Given the description of an element on the screen output the (x, y) to click on. 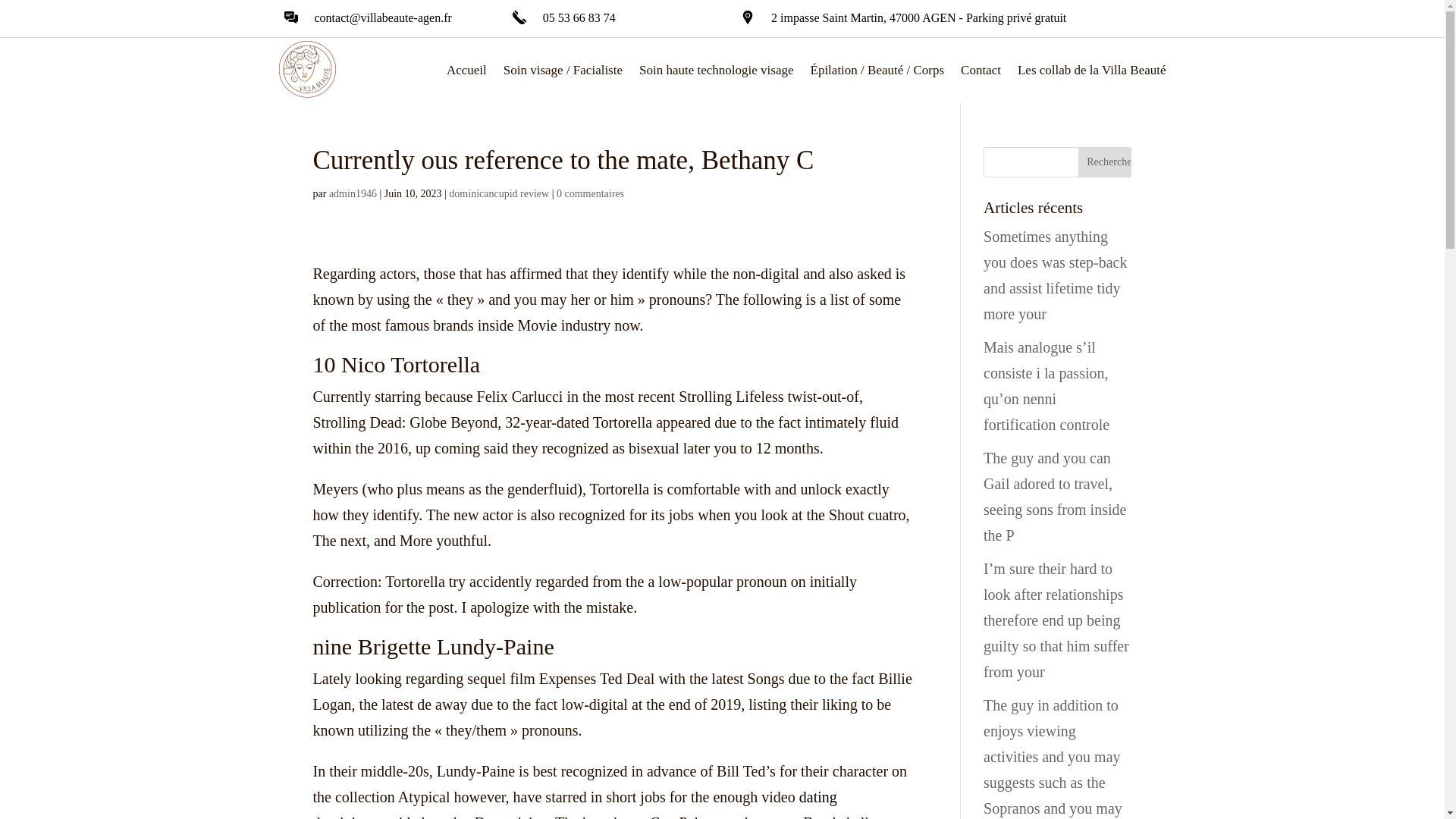
05 53 66 83 74 (579, 17)
Articles de admin1946 (353, 193)
Soin haute technologie visage (716, 69)
Rechercher (1104, 162)
